Given the description of an element on the screen output the (x, y) to click on. 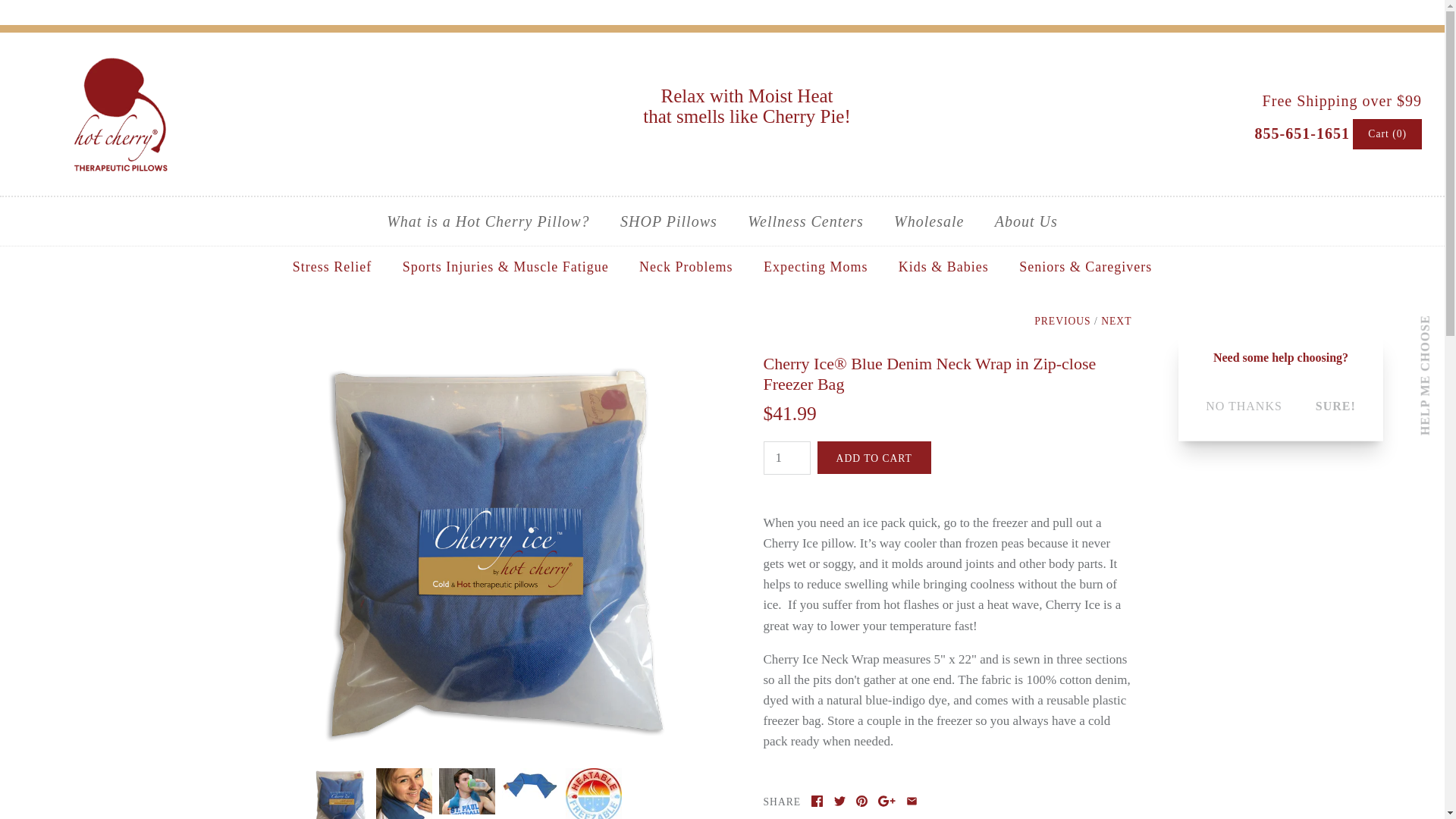
Facebook (816, 800)
855-651-1651 (1302, 132)
Add to Cart (873, 458)
GooglePlus (886, 800)
Add to Cart (873, 458)
Twitter (839, 800)
Email (911, 800)
1 (785, 458)
Pin the main image (861, 800)
Wholesale (928, 220)
SHOP Pillows (668, 220)
Pinterest (861, 800)
Email (911, 800)
Wellness Centers (804, 220)
Facebook (816, 800)
